Given the description of an element on the screen output the (x, y) to click on. 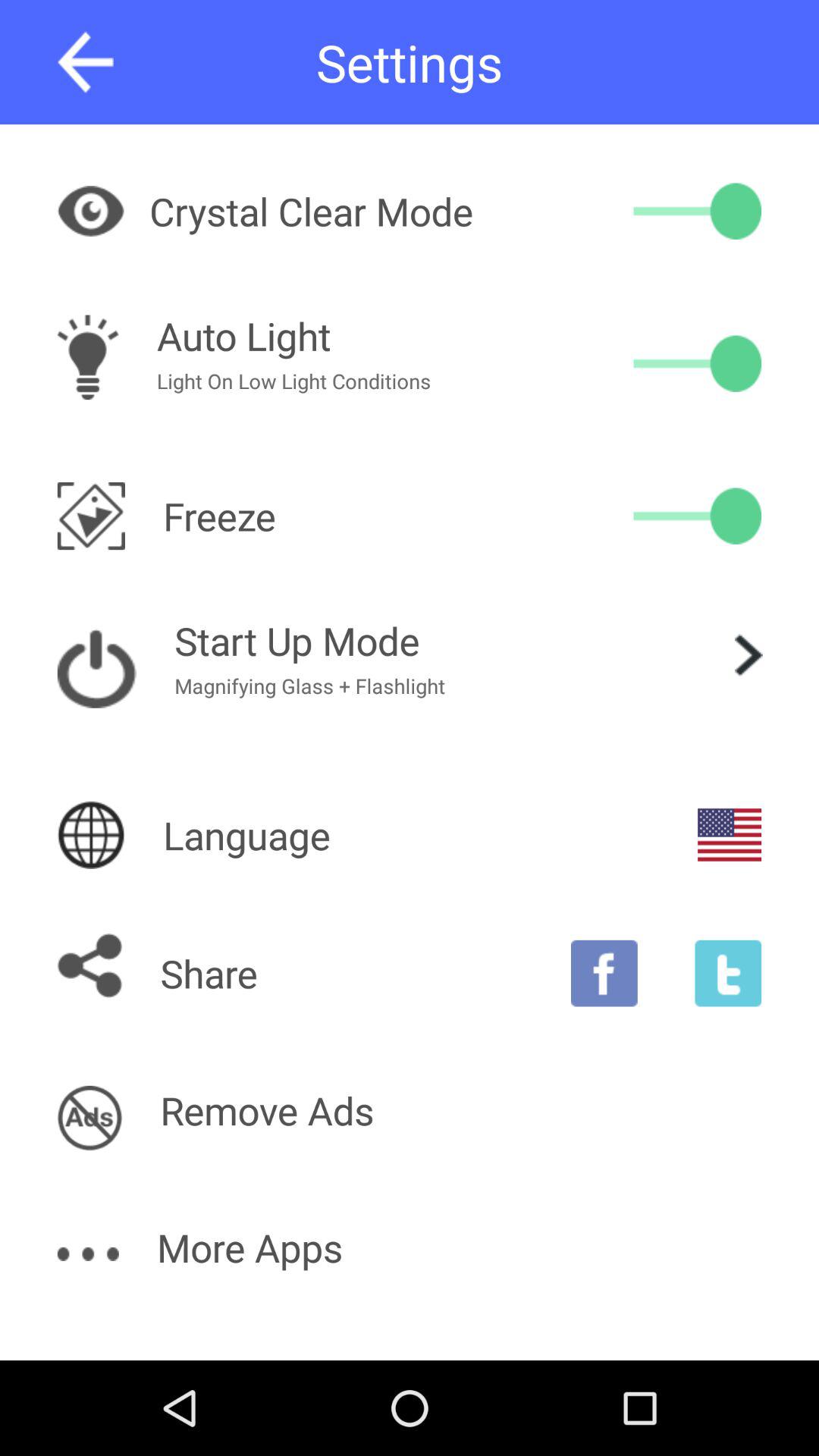
choose the item next to crystal clear mode (697, 211)
